Given the description of an element on the screen output the (x, y) to click on. 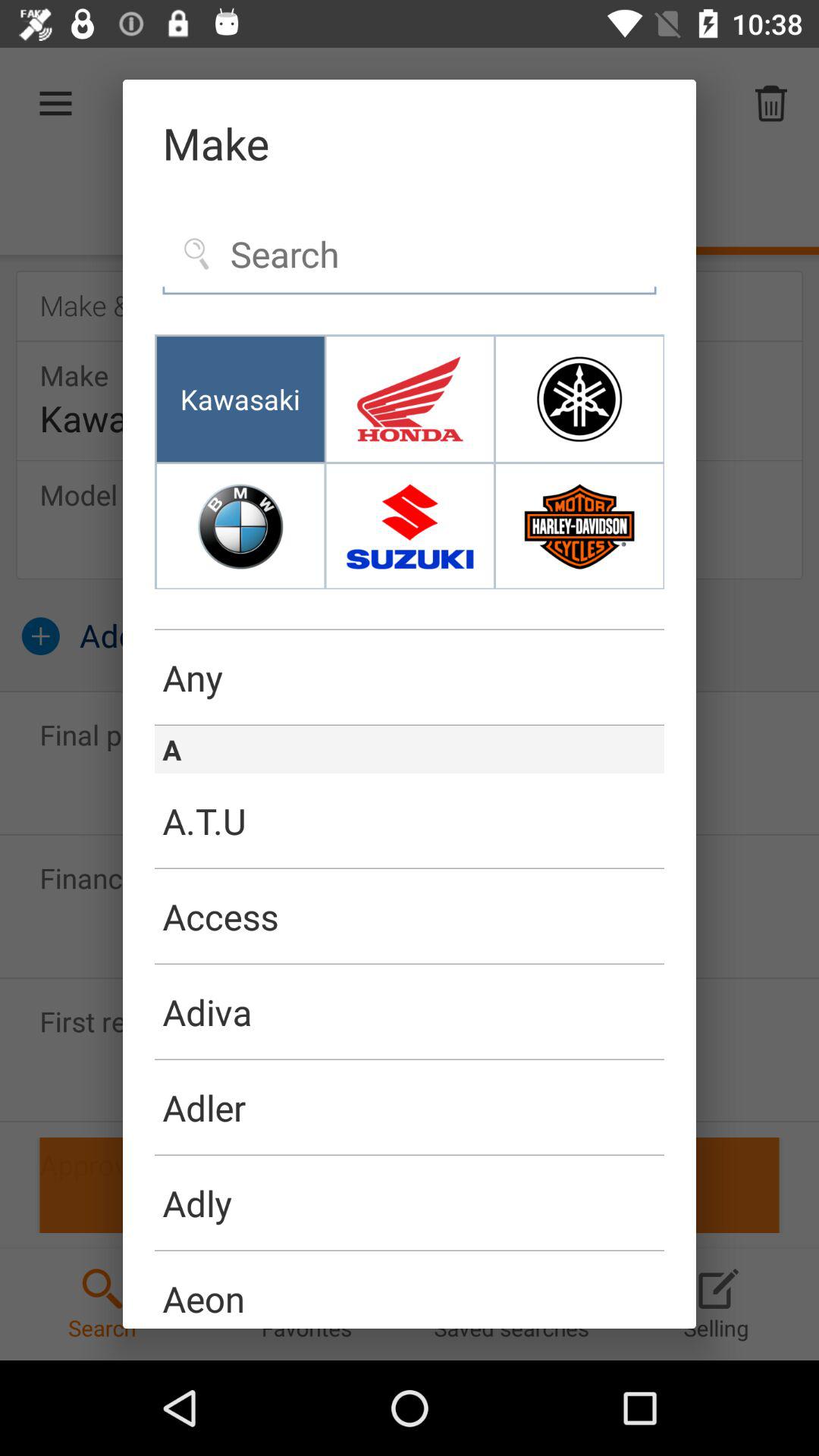
choose the item above the any item (409, 629)
